Given the description of an element on the screen output the (x, y) to click on. 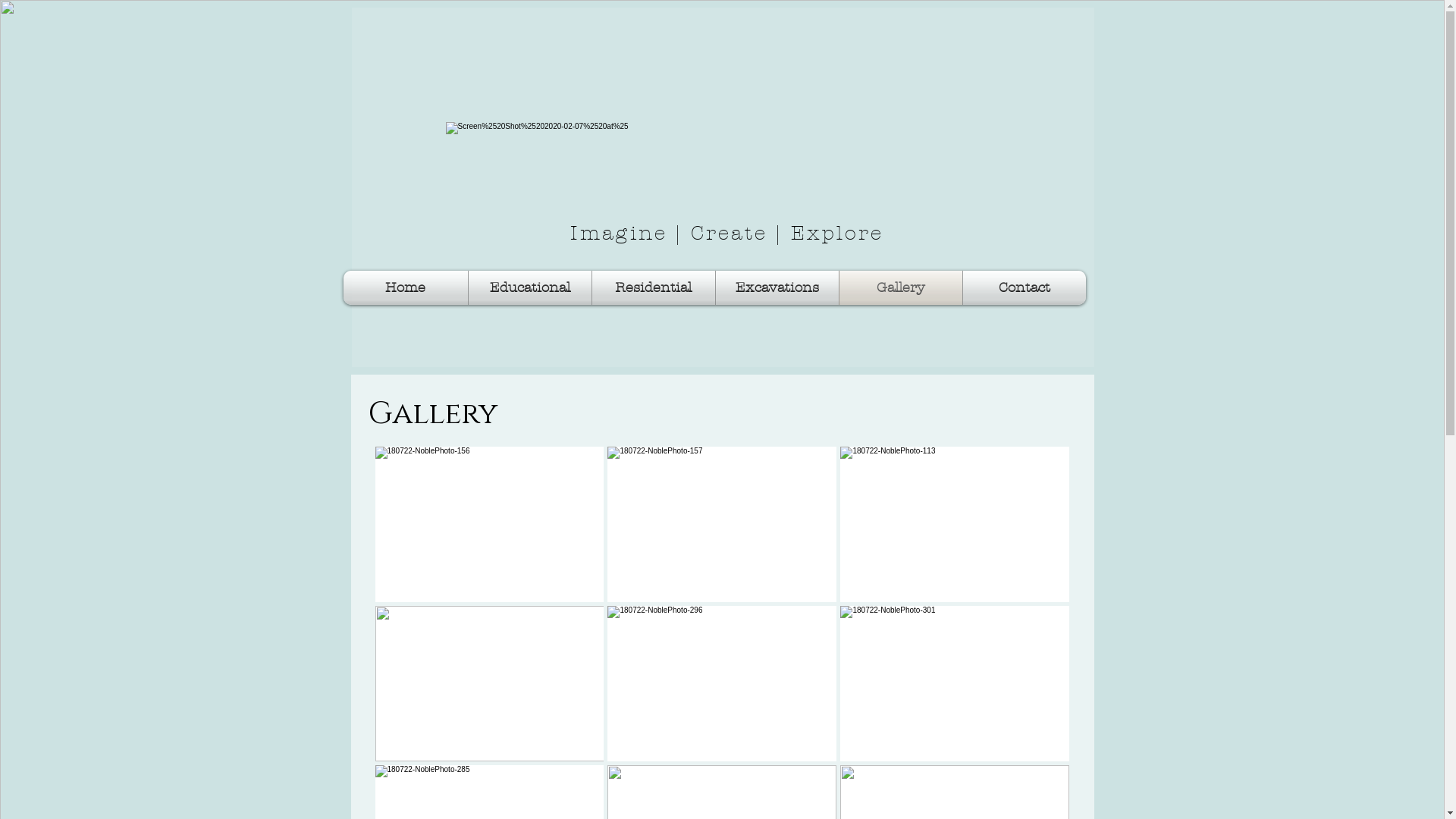
Residential Element type: text (652, 287)
Home Element type: text (404, 287)
Gallery Element type: text (899, 287)
Contact Element type: text (1024, 287)
Educational Element type: text (529, 287)
Excavations Element type: text (776, 287)
